Given the description of an element on the screen output the (x, y) to click on. 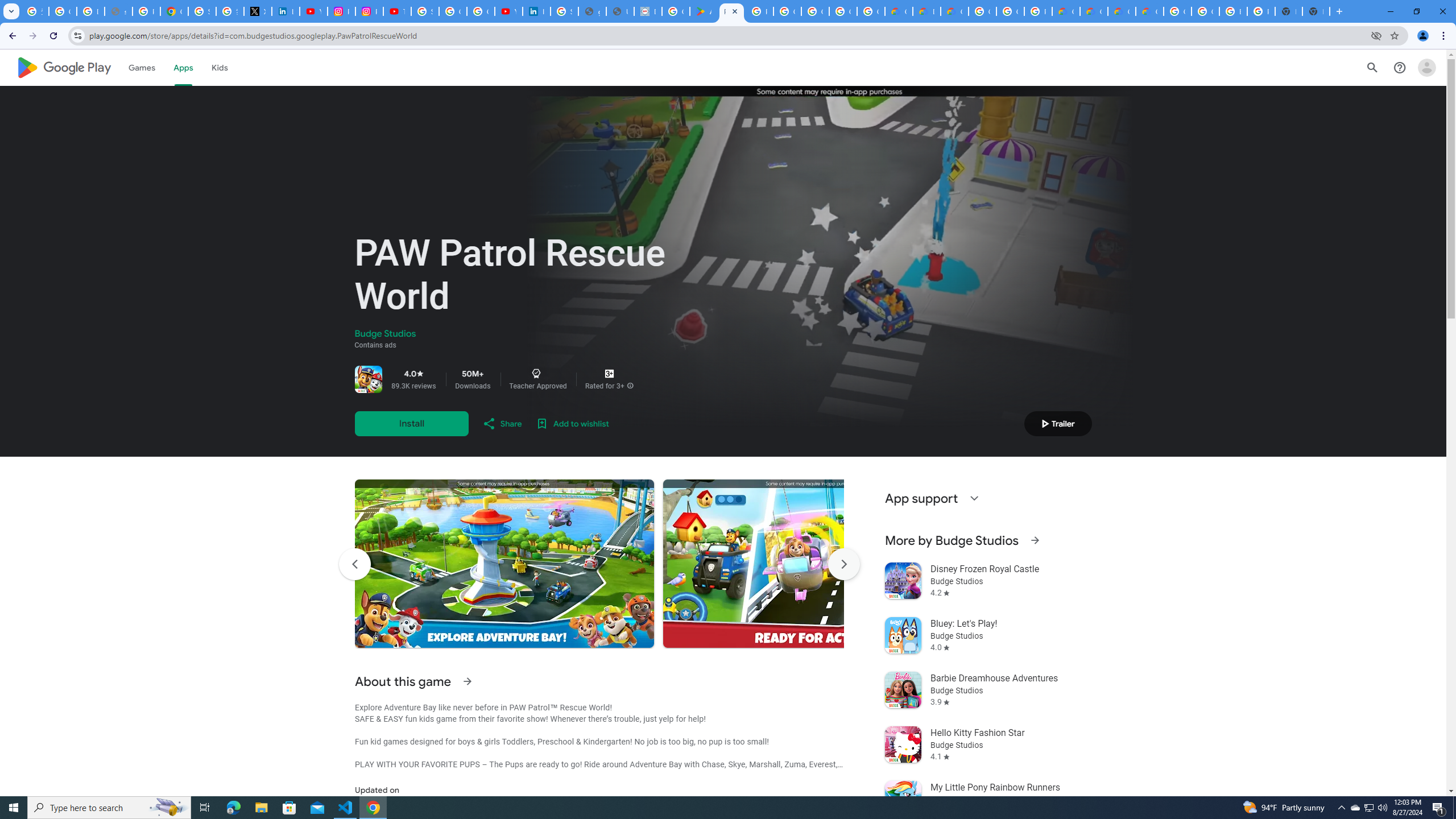
PAW Patrol Rescue World - Apps on Google Play (731, 11)
Customer Care | Google Cloud (898, 11)
Install (410, 423)
Google Play logo (64, 67)
